Given the description of an element on the screen output the (x, y) to click on. 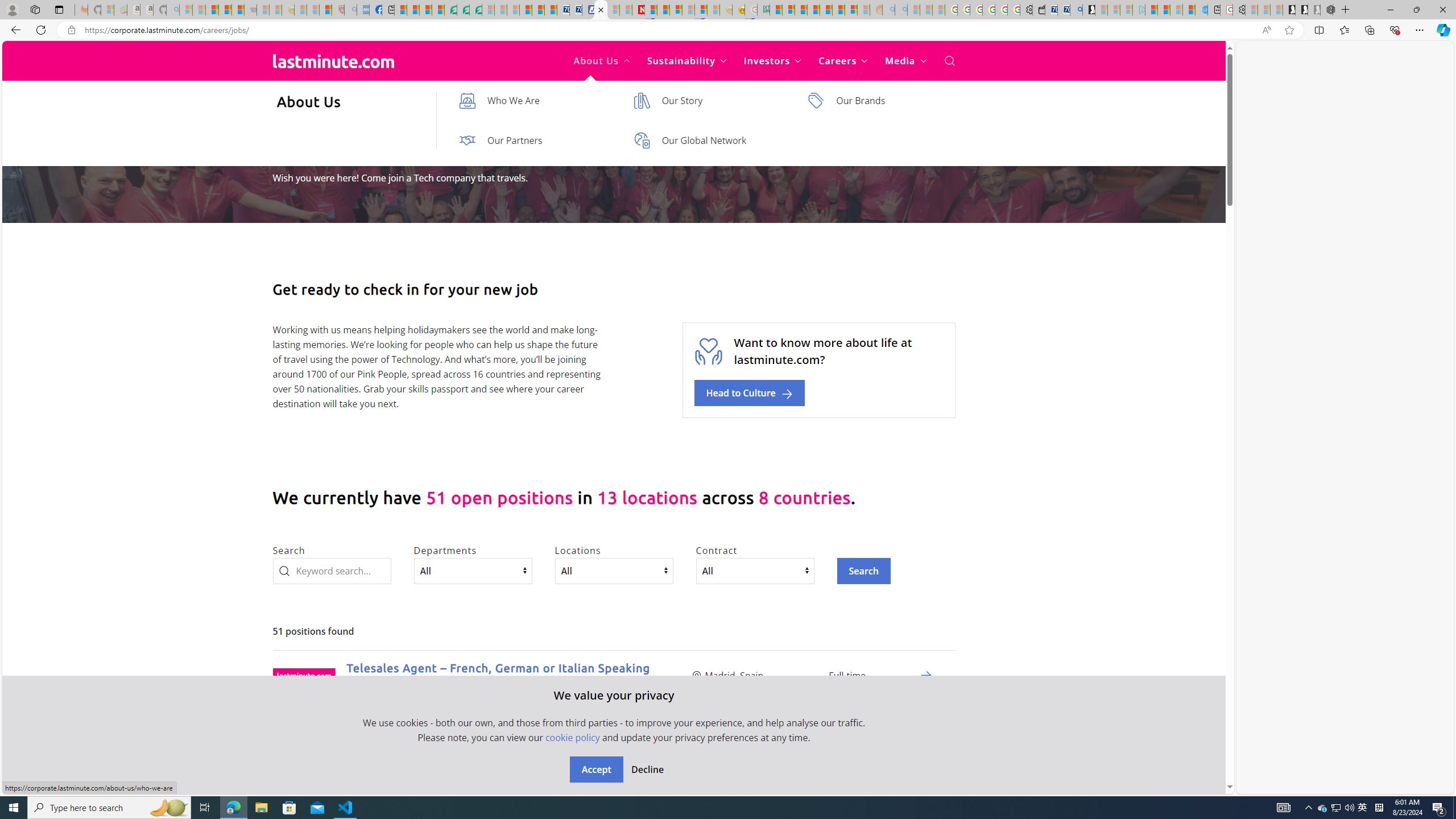
About Us (601, 60)
The Weather Channel - MSN (212, 9)
Investors (773, 60)
Address and search bar (669, 29)
Full Stack Engineer (401, 768)
Who We Are (534, 99)
Microsoft Start - Sleeping (1176, 9)
